Given the description of an element on the screen output the (x, y) to click on. 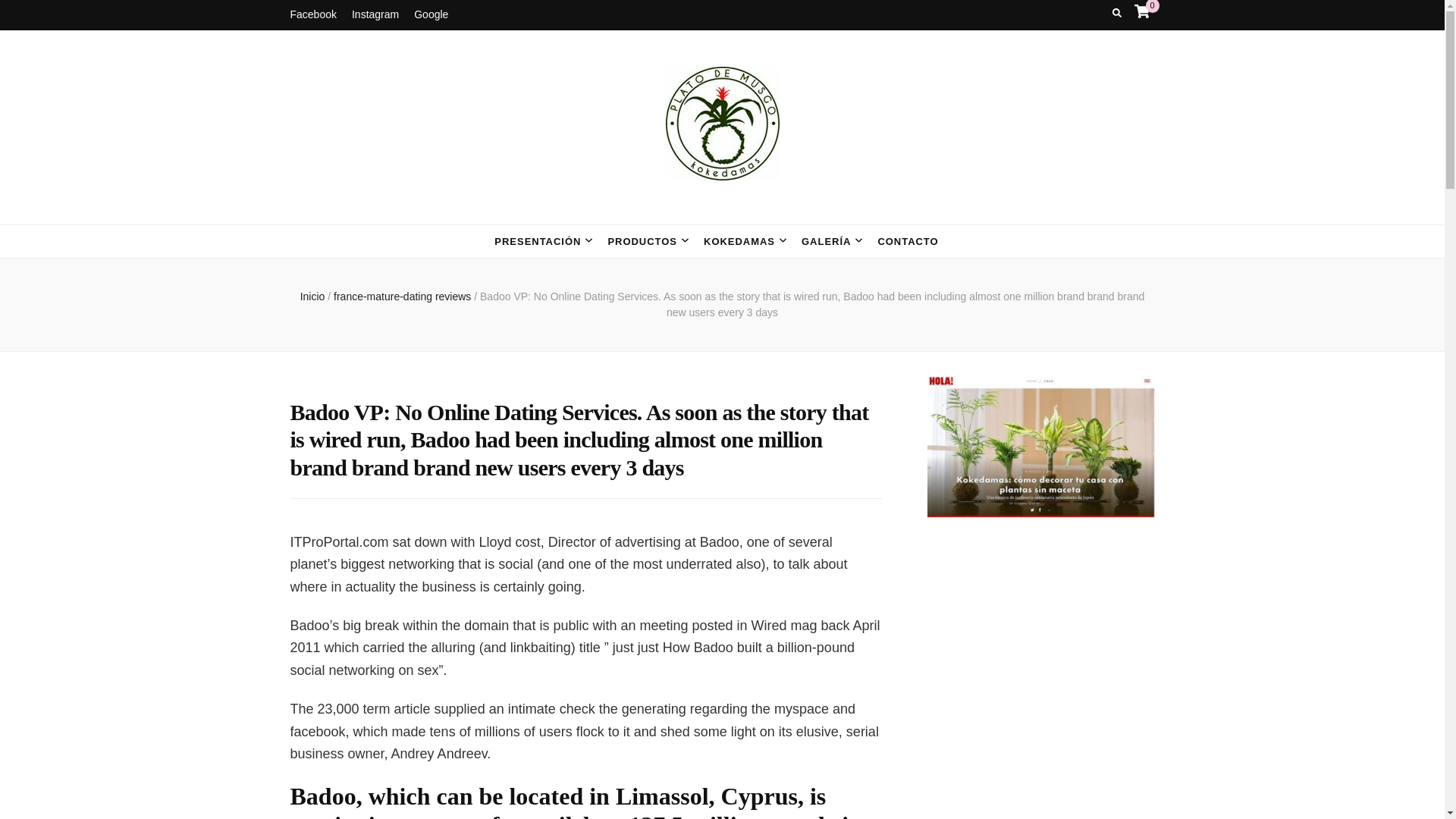
Ver tu carrito de la compra (1142, 11)
Google (430, 15)
Inicio (311, 296)
france-mature-dating reviews (403, 296)
Instagram (375, 15)
Plato de Musgo (436, 211)
0 (1142, 11)
KOKEDAMAS (738, 241)
Facebook (312, 15)
CONTACTO (907, 241)
PRODUCTOS (642, 241)
